Given the description of an element on the screen output the (x, y) to click on. 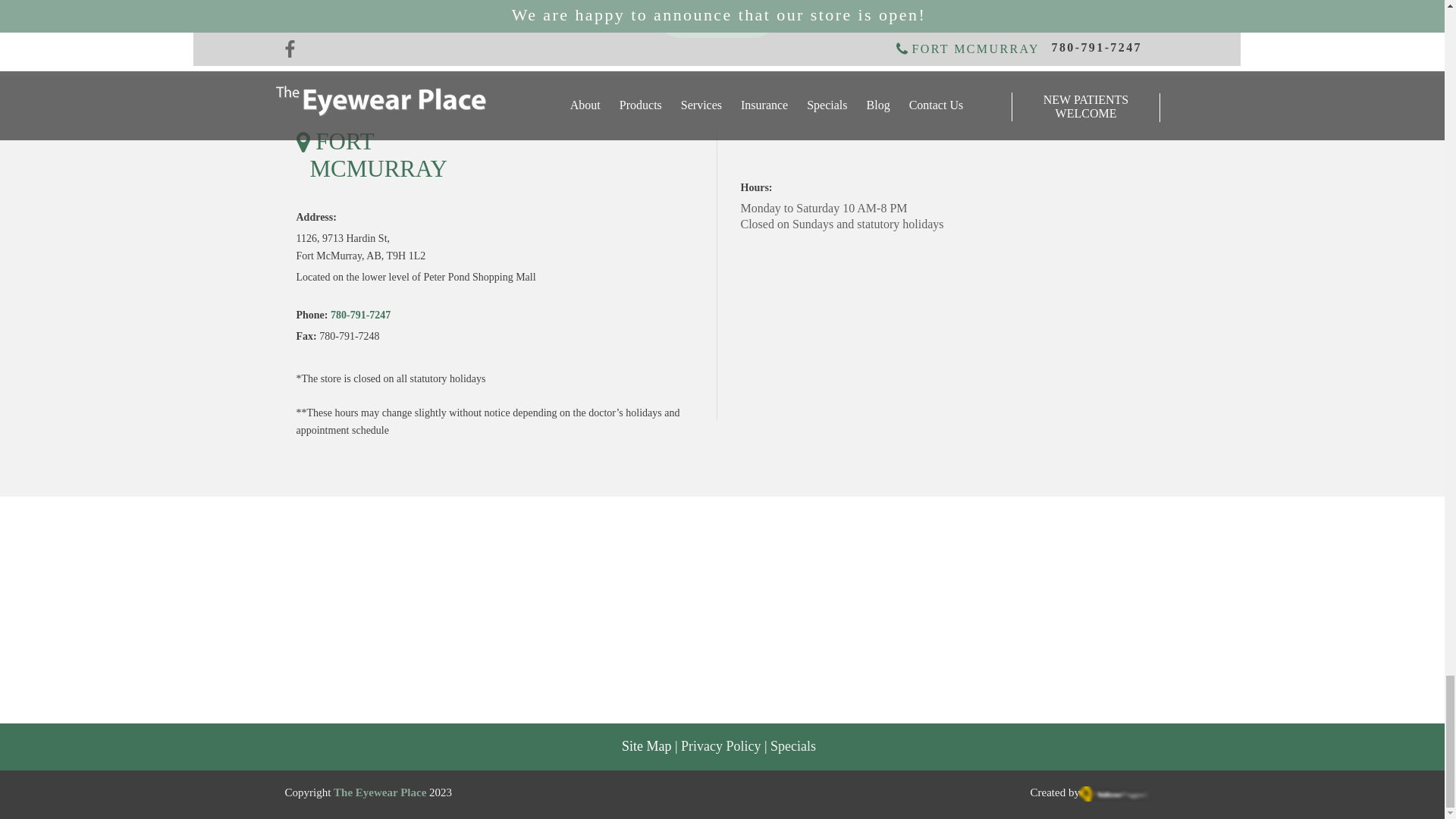
Privacy Policy (721, 747)
The Eyewear Place (379, 793)
Specials (792, 747)
780-791-7247 (360, 316)
Call Now (716, 18)
